Given the description of an element on the screen output the (x, y) to click on. 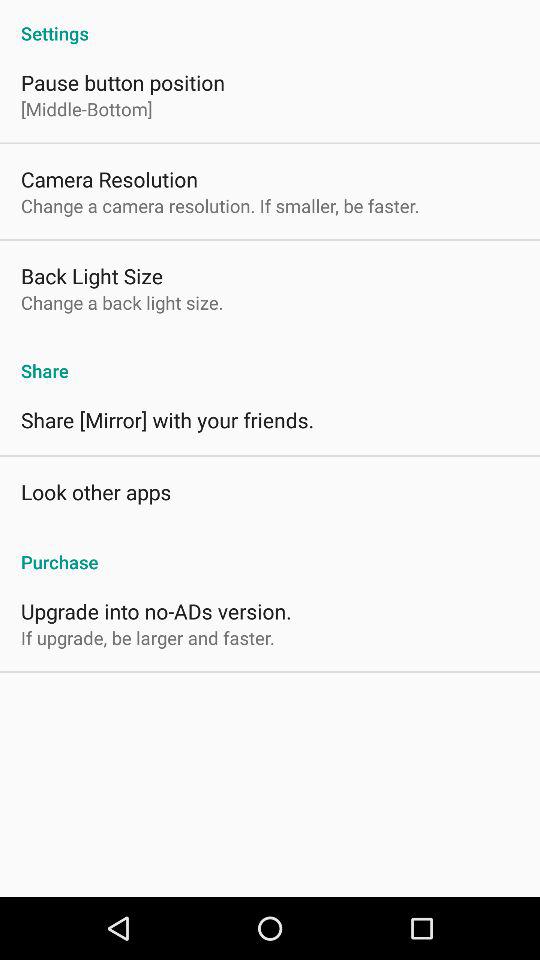
swipe until the upgrade into no icon (156, 610)
